Given the description of an element on the screen output the (x, y) to click on. 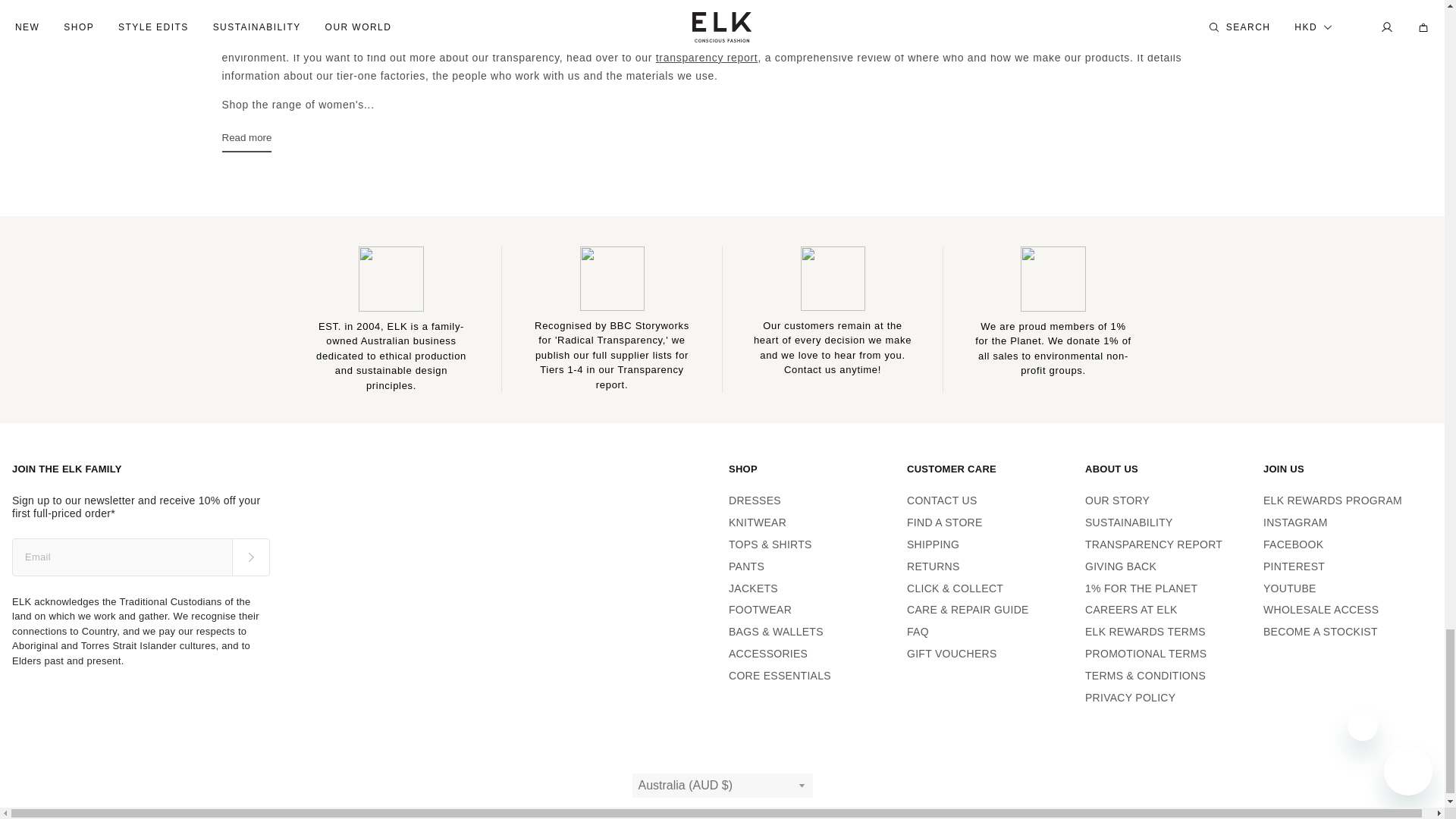
Women's Clothing (759, 39)
ELK Transparency Report (708, 57)
Women's Clothing (241, 10)
Women's Footwear (809, 39)
Women' Shoes (918, 10)
Women's Accessories (890, 39)
Women's Leather Bags (763, 10)
Women's Dresses (340, 10)
